Given the description of an element on the screen output the (x, y) to click on. 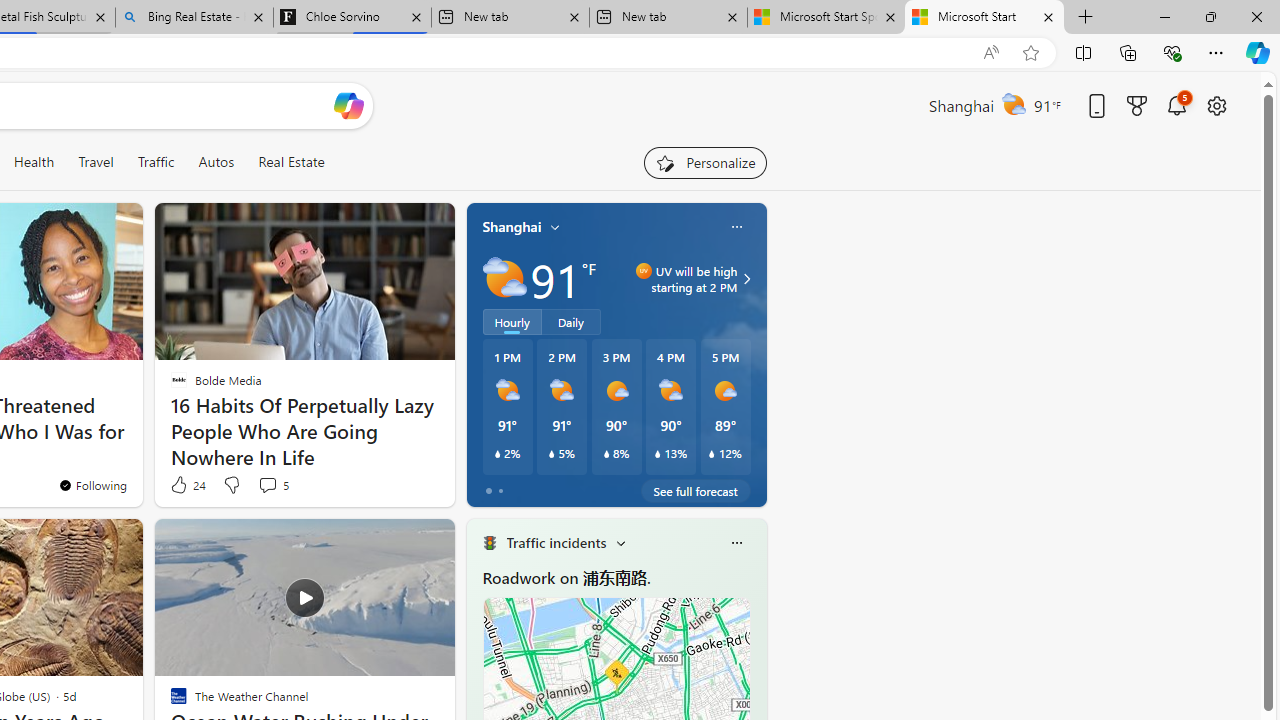
See full forecast (695, 490)
Partly sunny (504, 278)
View comments 5 Comment (272, 484)
